Given the description of an element on the screen output the (x, y) to click on. 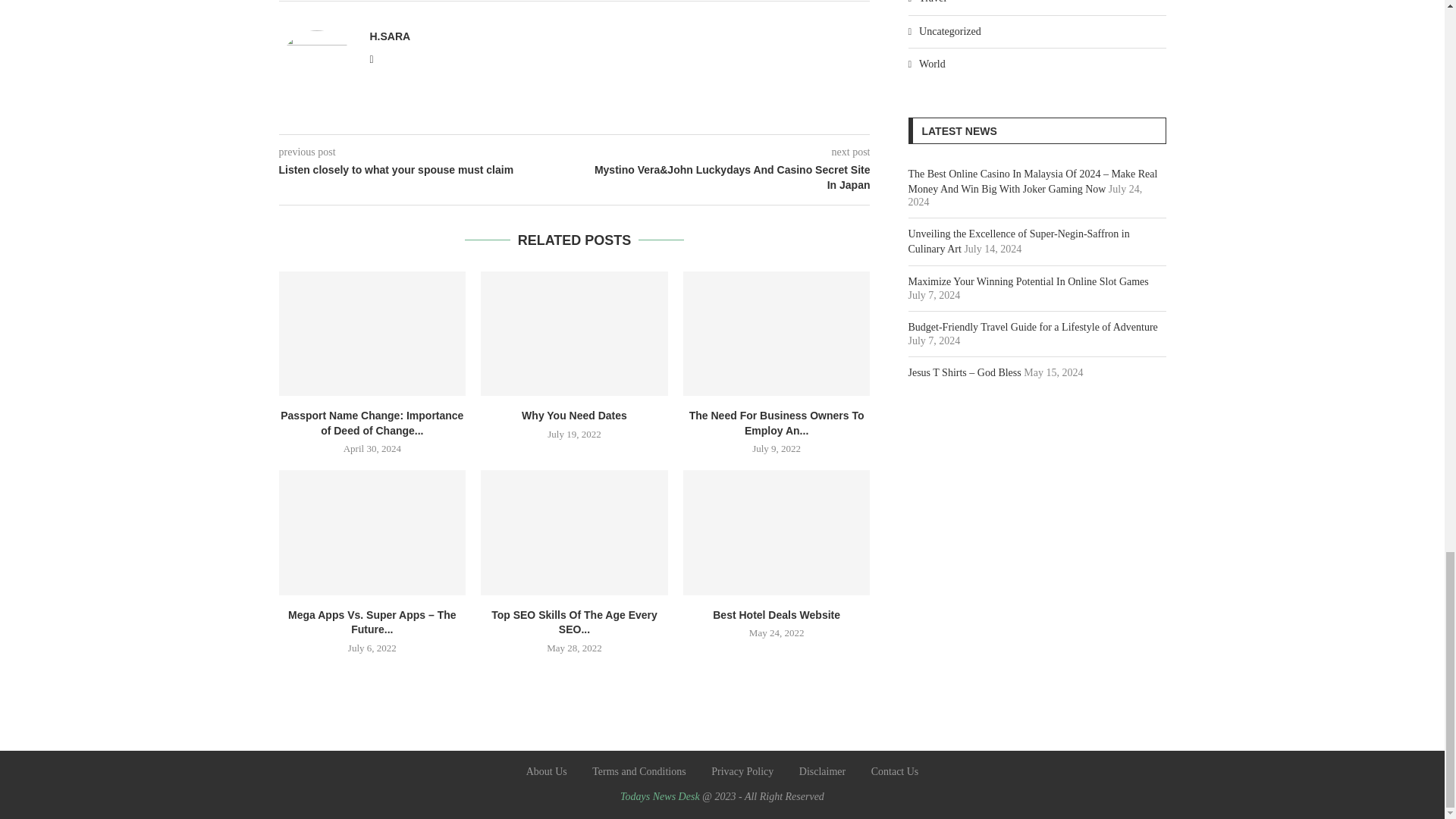
Why You Need Dates (574, 333)
Author H.Sara (389, 36)
The Need For Business Owners To Employ An SEO Agency (776, 333)
Best Hotel Deals Website (776, 532)
